Given the description of an element on the screen output the (x, y) to click on. 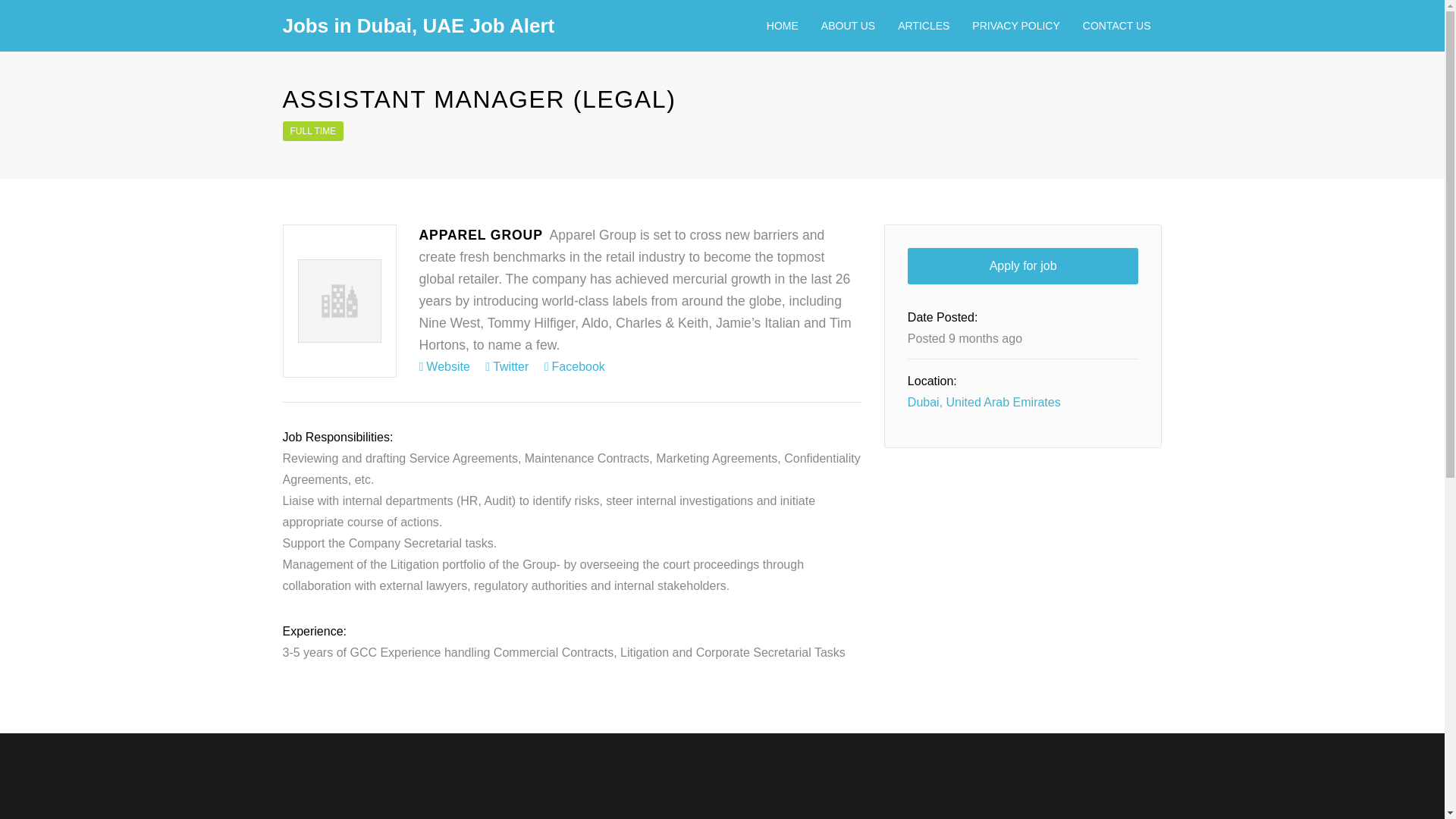
Website (443, 366)
APPAREL GROUP (480, 235)
ABOUT US (847, 25)
Dubai, United Arab Emirates (984, 401)
Facebook (574, 366)
ARTICLES (923, 25)
Apply for job (1022, 266)
Jobs in Dubai, UAE Job Alert (418, 25)
HOME (782, 25)
CONTACT US (1116, 25)
